Given the description of an element on the screen output the (x, y) to click on. 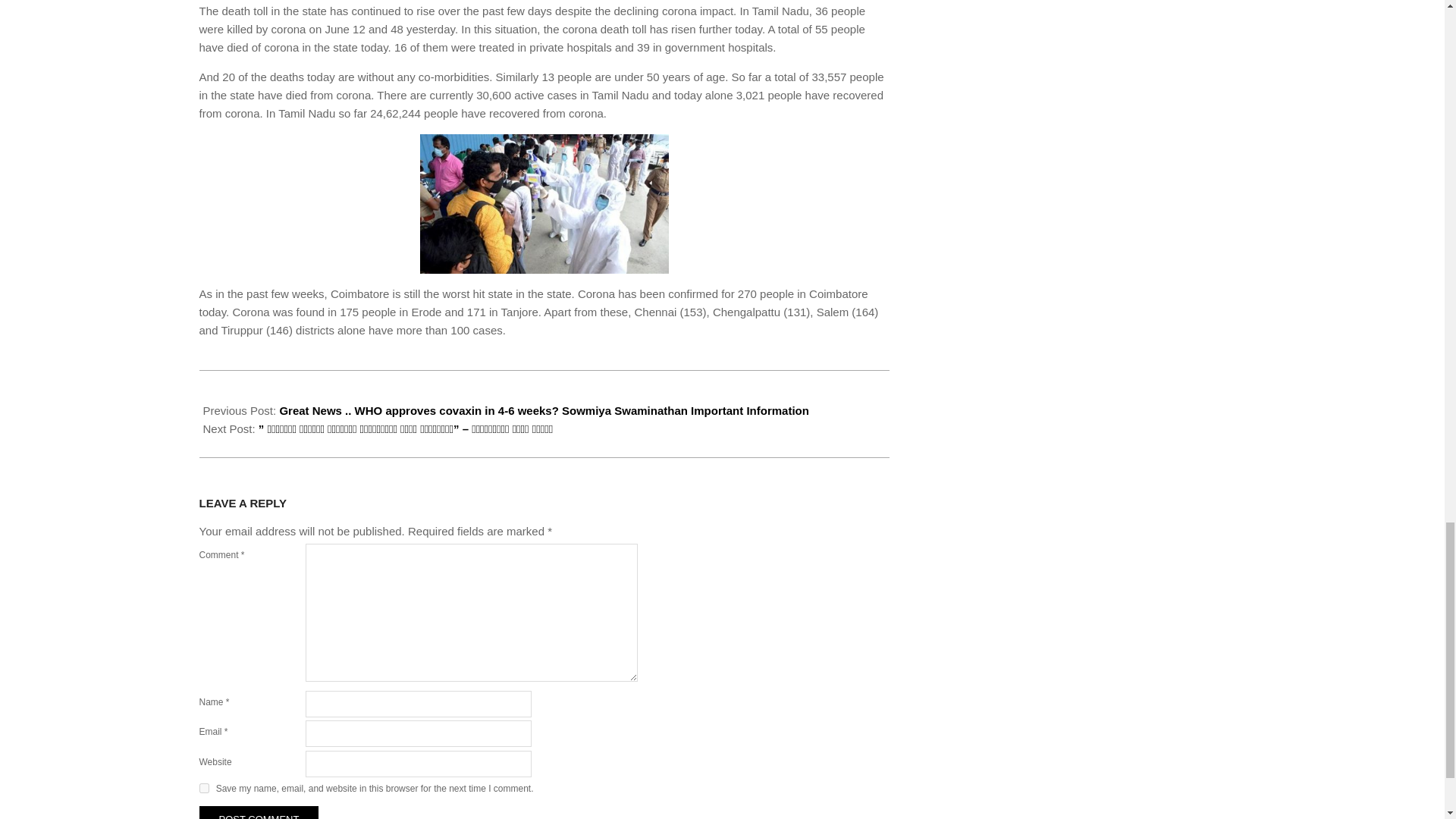
Post Comment (258, 812)
yes (203, 787)
